Given the description of an element on the screen output the (x, y) to click on. 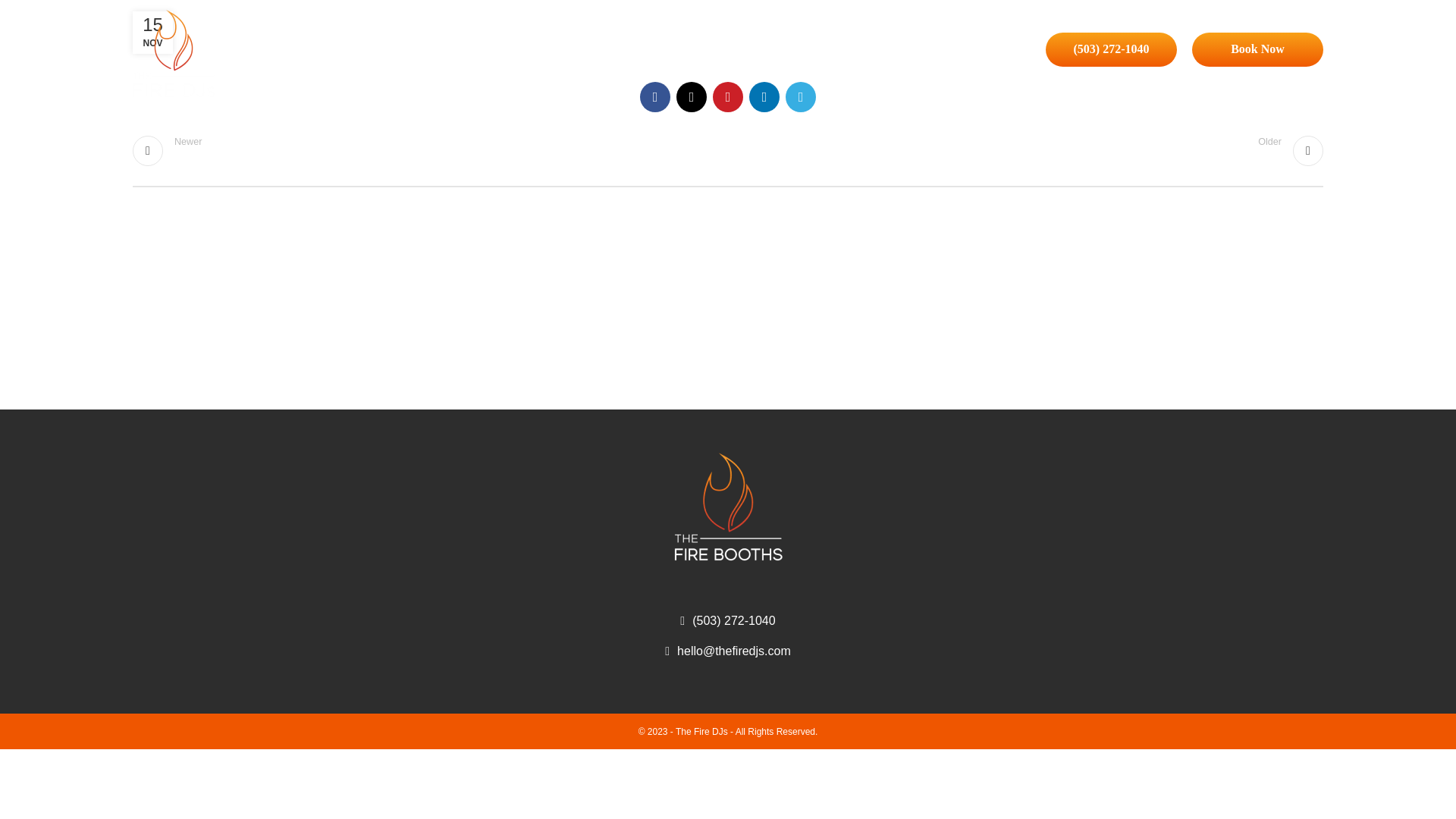
FAQ (839, 52)
Home (430, 150)
Book Now (609, 52)
Fire-DJs-Logo 1-min (1257, 48)
Reviews (1025, 150)
Services (727, 506)
